Given the description of an element on the screen output the (x, y) to click on. 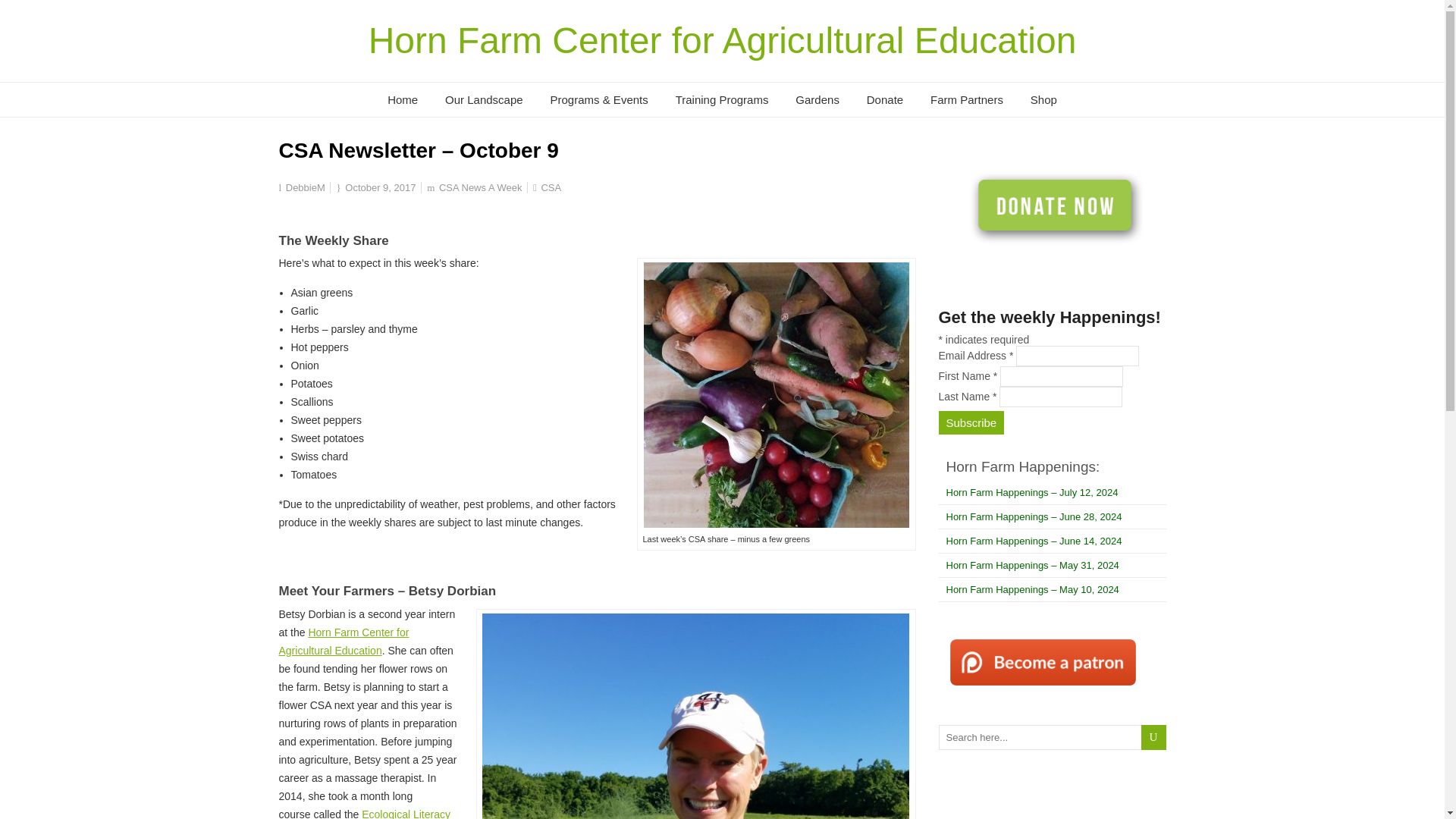
Shop (1042, 99)
Posts by DebbieM (304, 187)
Horn Farm Center for Agricultural Education (722, 40)
Gardens (817, 99)
Farm Partners (966, 99)
DebbieM (304, 187)
U (1153, 737)
Subscribe (971, 422)
U (1153, 737)
Our Landscape (483, 99)
Home (402, 99)
Donate (884, 99)
Training Programs (721, 99)
